Given the description of an element on the screen output the (x, y) to click on. 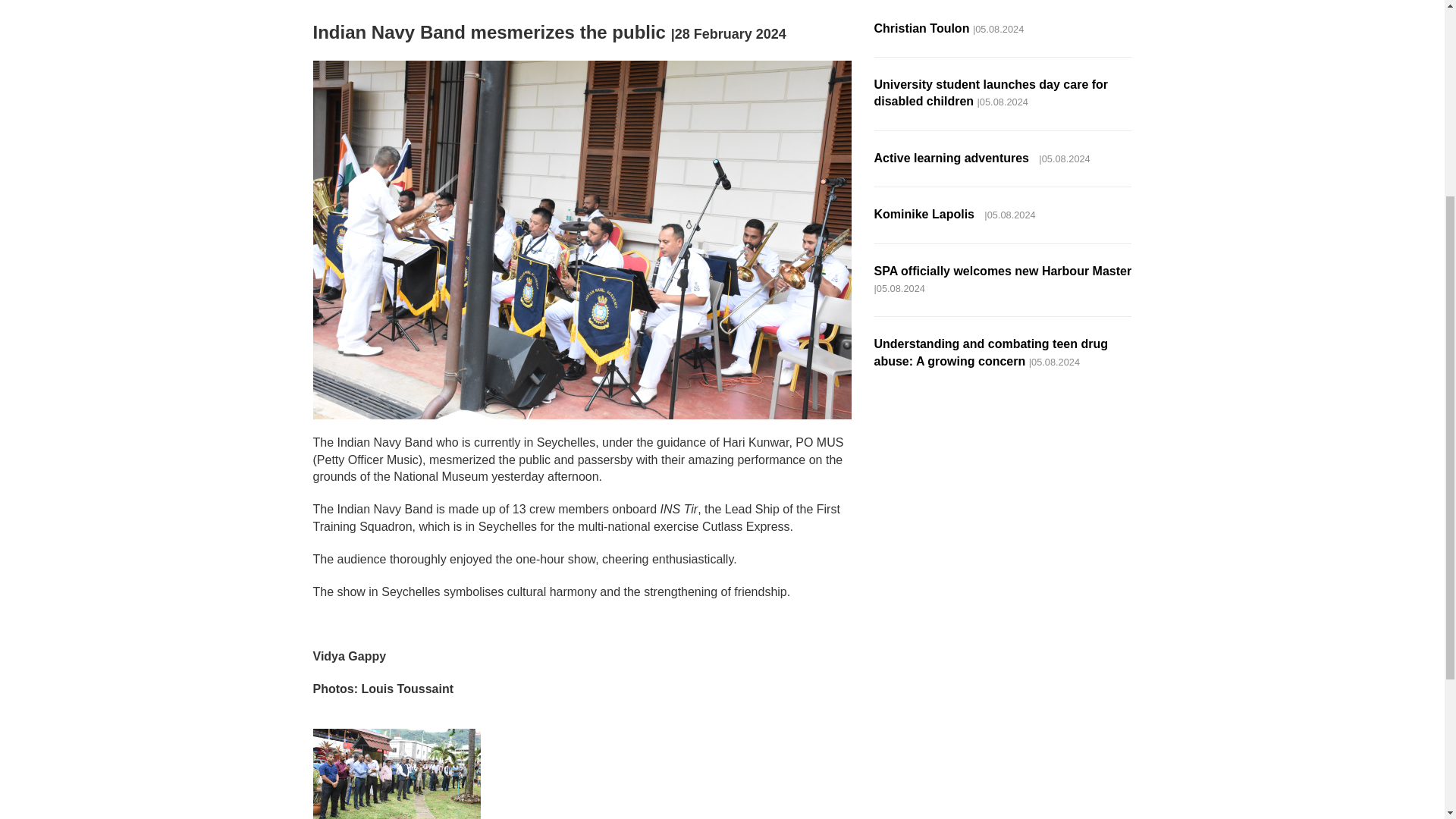
Christian Toulon (921, 28)
Active learning adventures   (954, 157)
Kominike Lapolis   (926, 214)
SPA officially welcomes new Harbour Master (1002, 270)
University student launches day care for disabled children (990, 92)
